Given the description of an element on the screen output the (x, y) to click on. 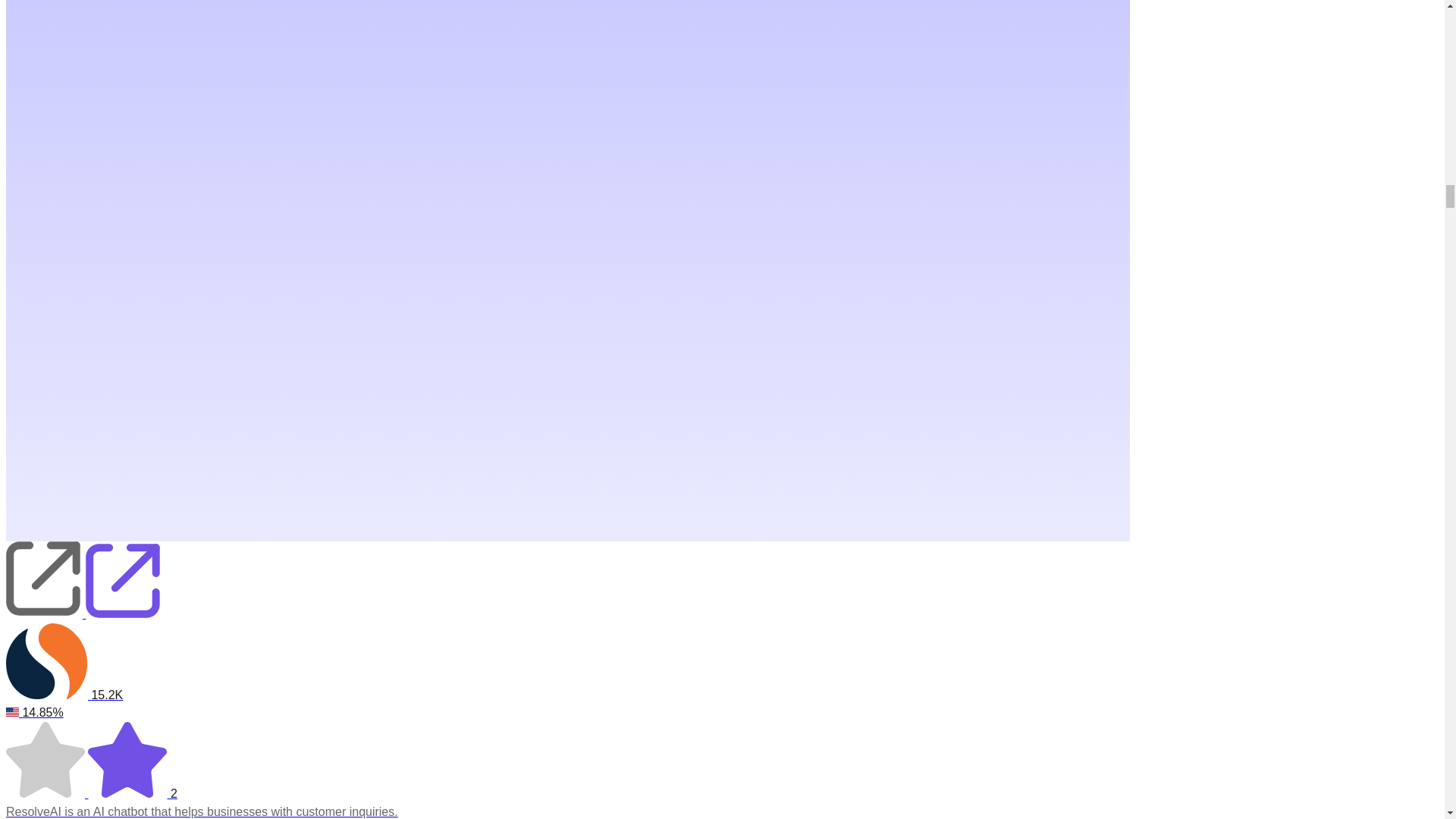
Monthly Visits (567, 663)
Advanced AI-powered photo editing software. (567, 811)
